Given the description of an element on the screen output the (x, y) to click on. 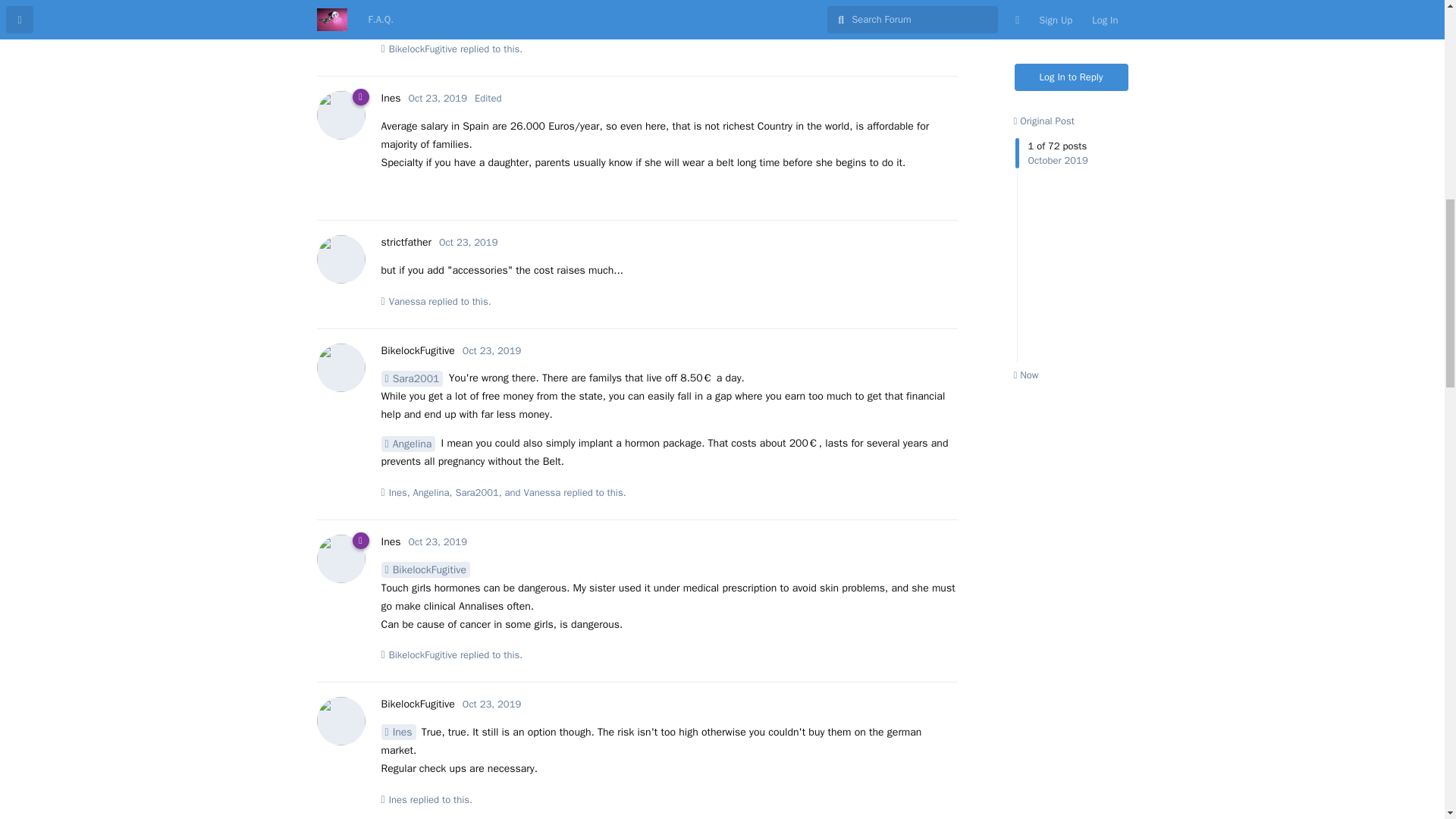
BikelockFugitive (422, 48)
Wednesday, October 23, 2019 6:15 PM (492, 703)
Wednesday, October 23, 2019 6:06 PM (438, 541)
Vanessa (407, 18)
Wednesday, October 23, 2019 5:01 PM (492, 350)
Wednesday, October 23, 2019 1:46 PM (438, 97)
Wednesday, October 23, 2019 2:20 PM (468, 241)
